Given the description of an element on the screen output the (x, y) to click on. 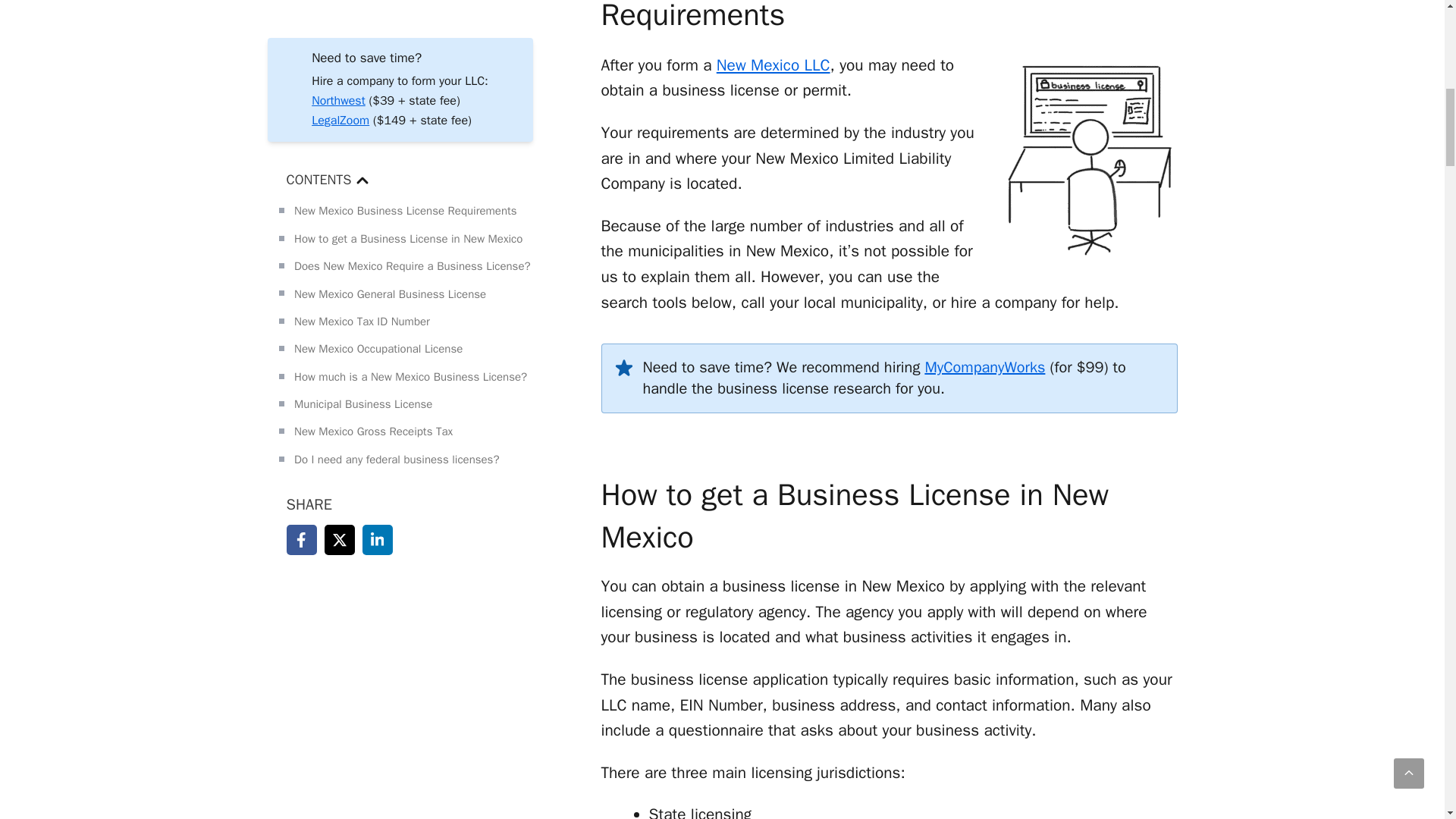
MyCompanyWorks (984, 366)
Scroll back to top (1408, 15)
New Mexico LLC (772, 65)
